Given the description of an element on the screen output the (x, y) to click on. 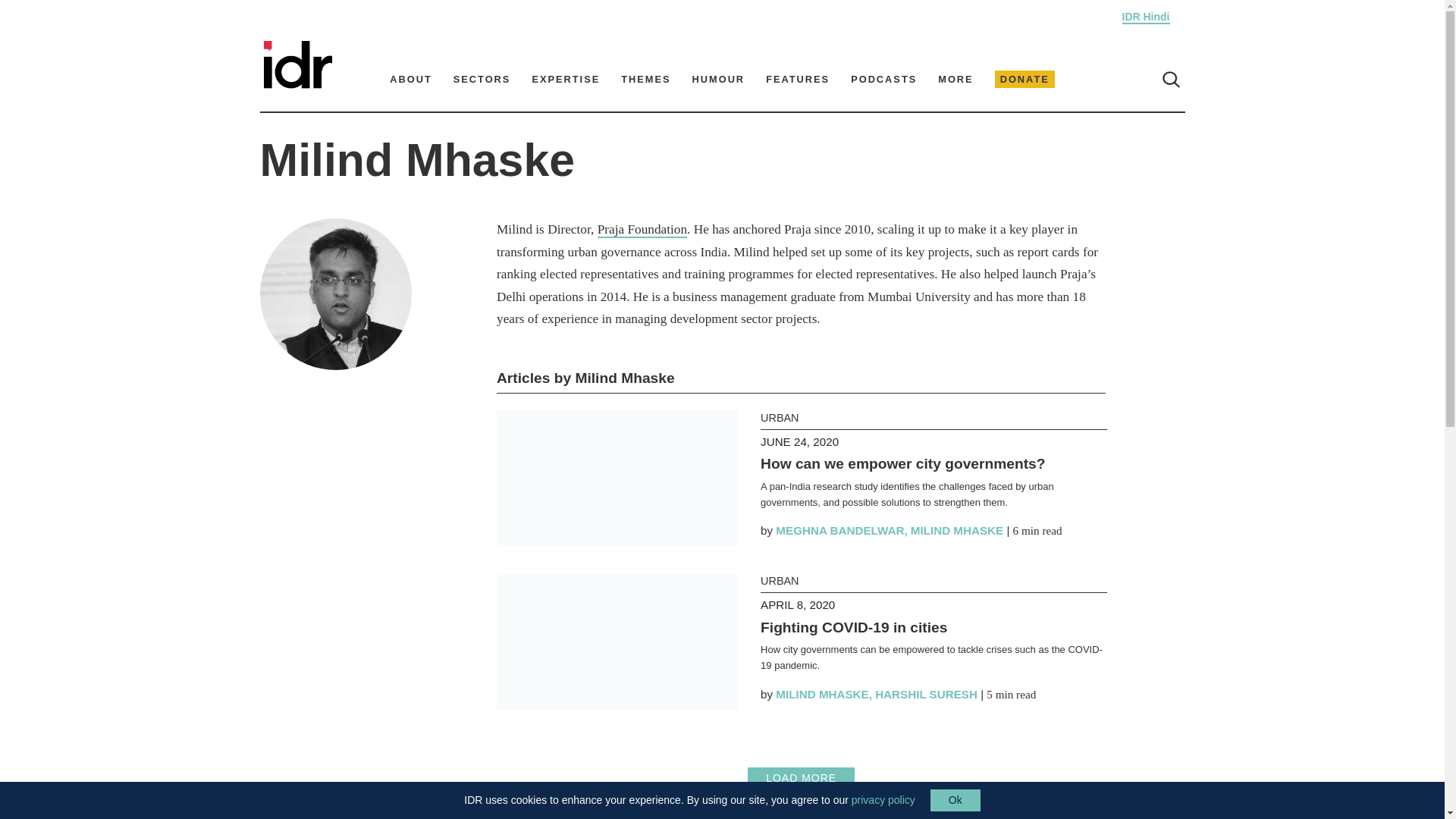
SECTORS (481, 79)
ABOUT (411, 79)
IDR Hindi (1146, 17)
THEMES (645, 79)
EXPERTISE (565, 79)
